Given the description of an element on the screen output the (x, y) to click on. 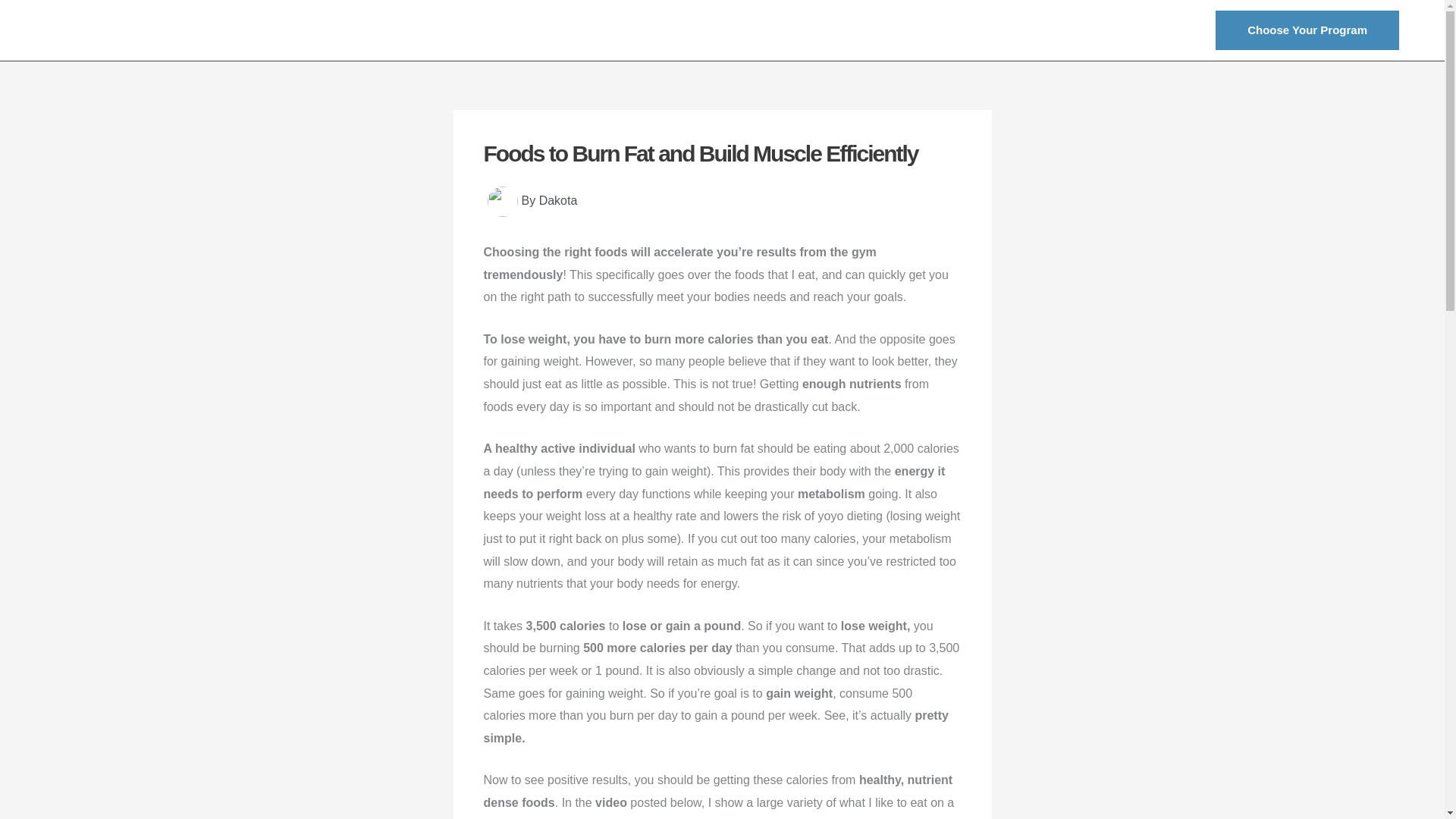
Dakota (558, 200)
Choose Your Program (1307, 29)
Dakota Life Fitness (149, 29)
View all posts by Dakota (558, 200)
About (986, 30)
Contact (1118, 30)
Services (1050, 30)
Home (930, 30)
